Given the description of an element on the screen output the (x, y) to click on. 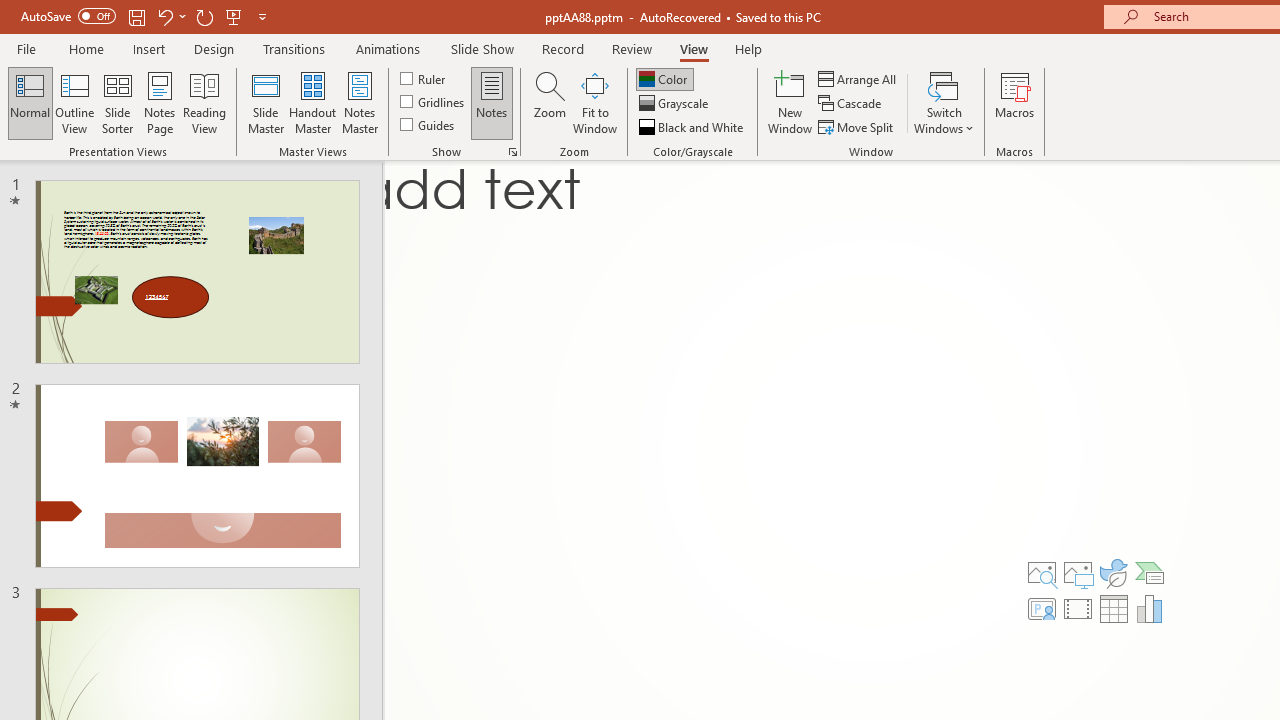
Insert Video (1078, 608)
Guides (428, 124)
Notes Master (360, 102)
Fit to Window (594, 102)
